Given the description of an element on the screen output the (x, y) to click on. 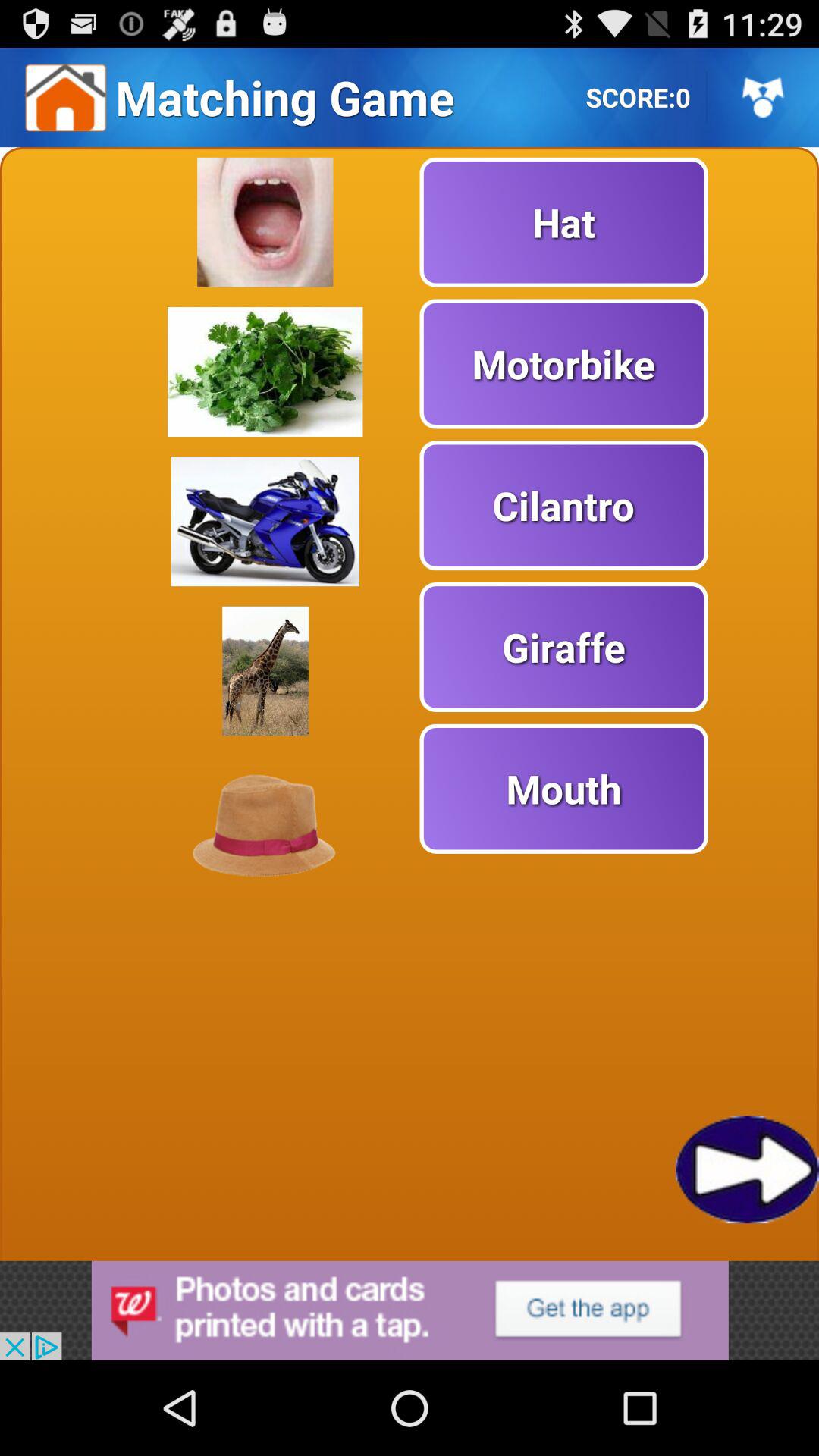
advertising (409, 1310)
